Given the description of an element on the screen output the (x, y) to click on. 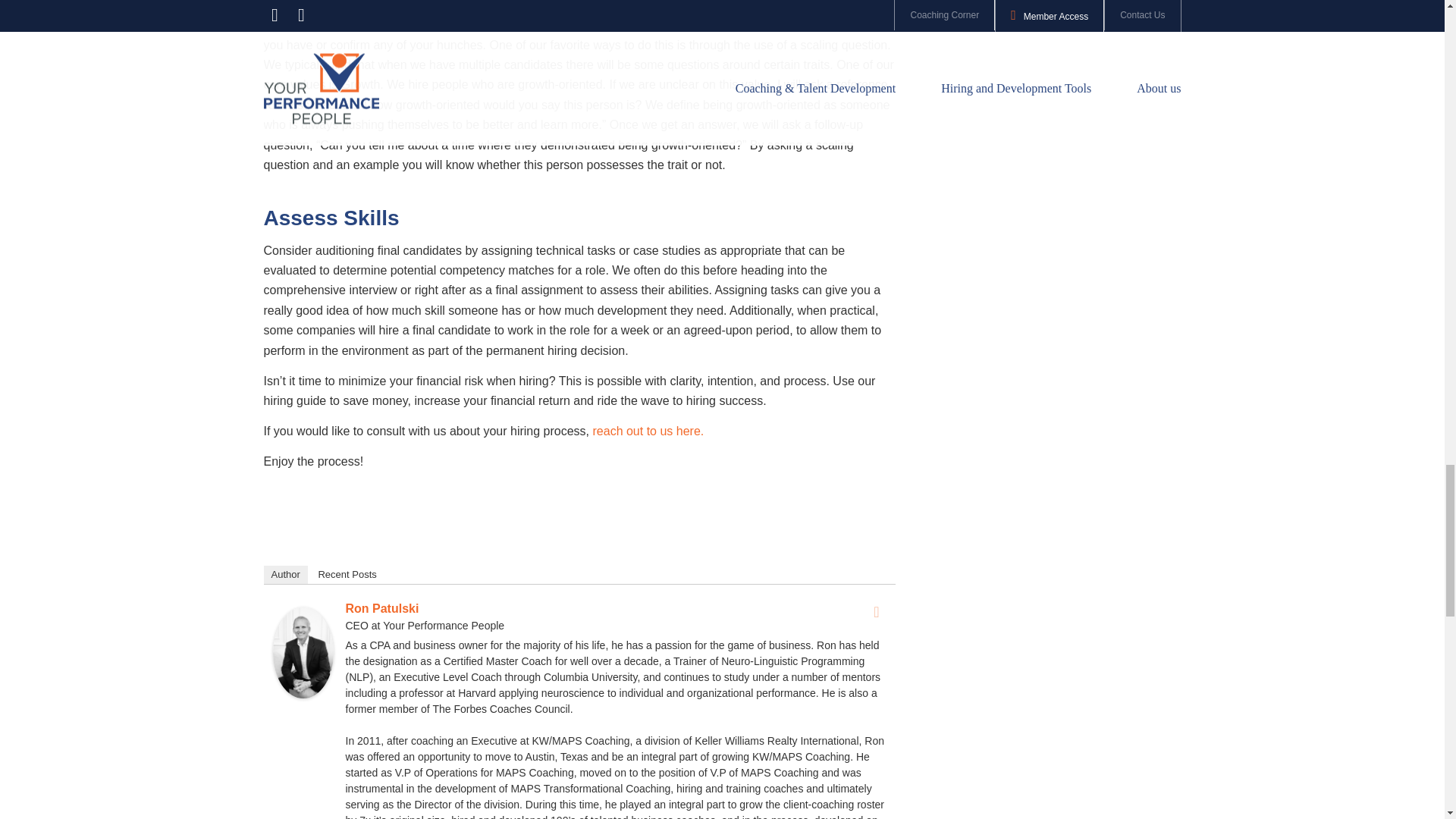
Ron Patulski (303, 694)
Author (285, 574)
Facebook (876, 611)
reach out to us here. (648, 431)
Ron Patulski (382, 608)
Recent Posts (347, 574)
